Given the description of an element on the screen output the (x, y) to click on. 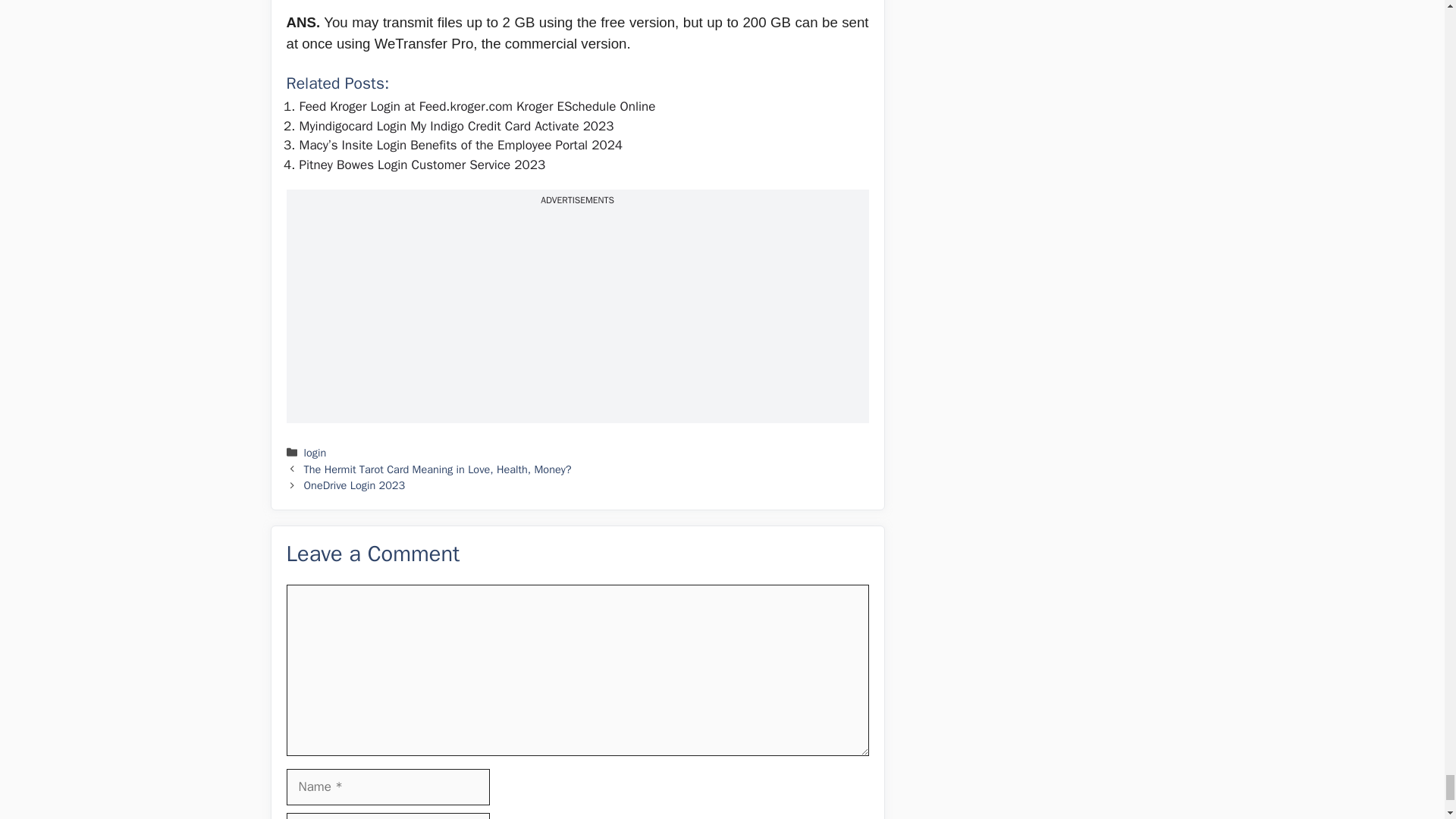
Feed Kroger Login at Feed.kroger.com Kroger ESchedule Online (476, 106)
ADVERTISEMENTS (577, 200)
Pitney Bowes Login Customer Service 2023 (421, 164)
Feed Kroger Login at Feed.kroger.com Kroger ESchedule Online (476, 106)
Pitney Bowes Login Customer Service 2023 (421, 164)
login (315, 452)
Myindigocard Login My Indigo Credit Card Activate 2023 (455, 125)
Myindigocard Login My Indigo Credit Card Activate 2023 (455, 125)
The Hermit Tarot Card Meaning in Love, Health, Money? (438, 468)
OneDrive Login 2023 (355, 485)
